Given the description of an element on the screen output the (x, y) to click on. 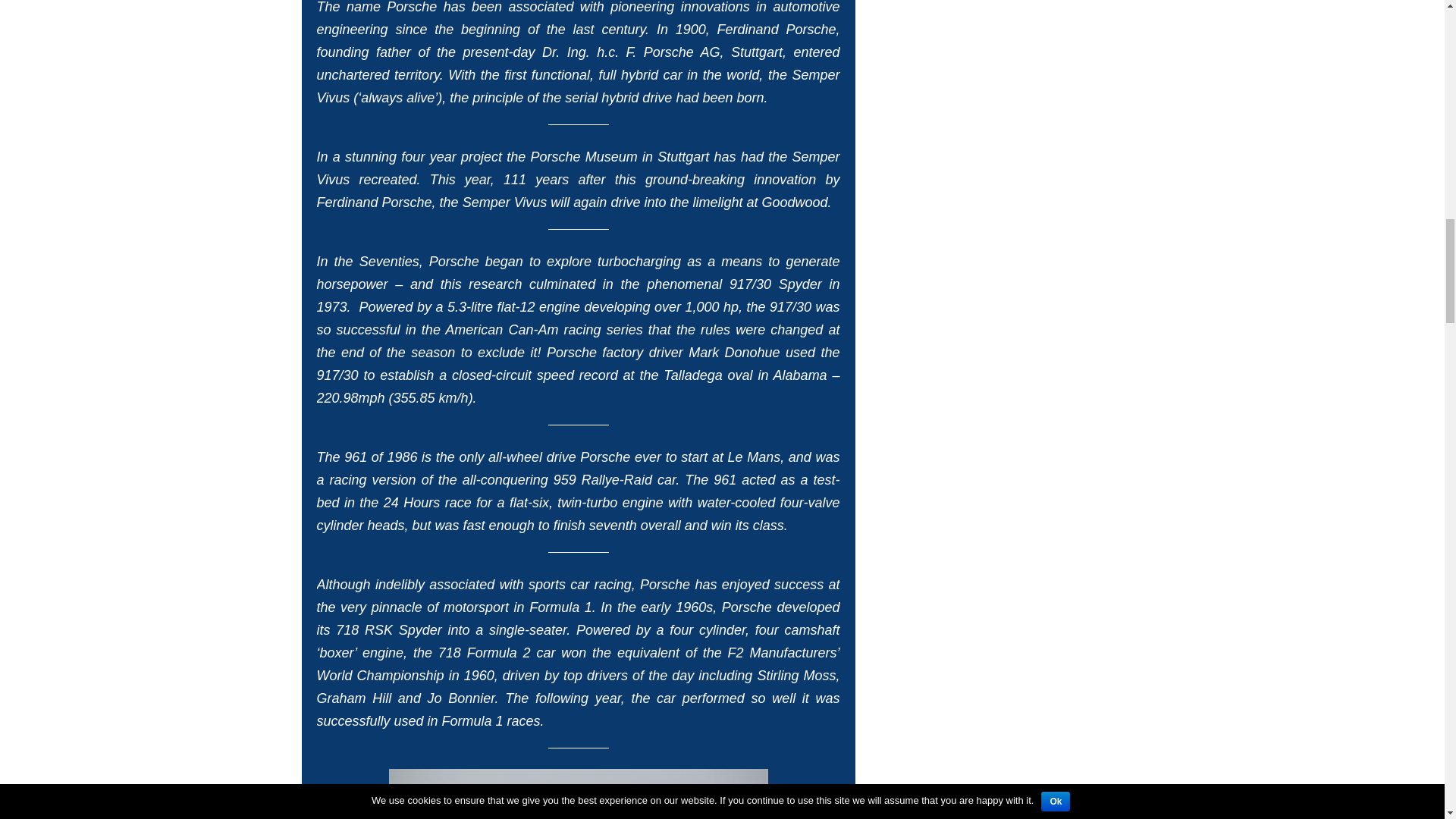
porsche 2011 goodwood 3 (577, 794)
